Given the description of an element on the screen output the (x, y) to click on. 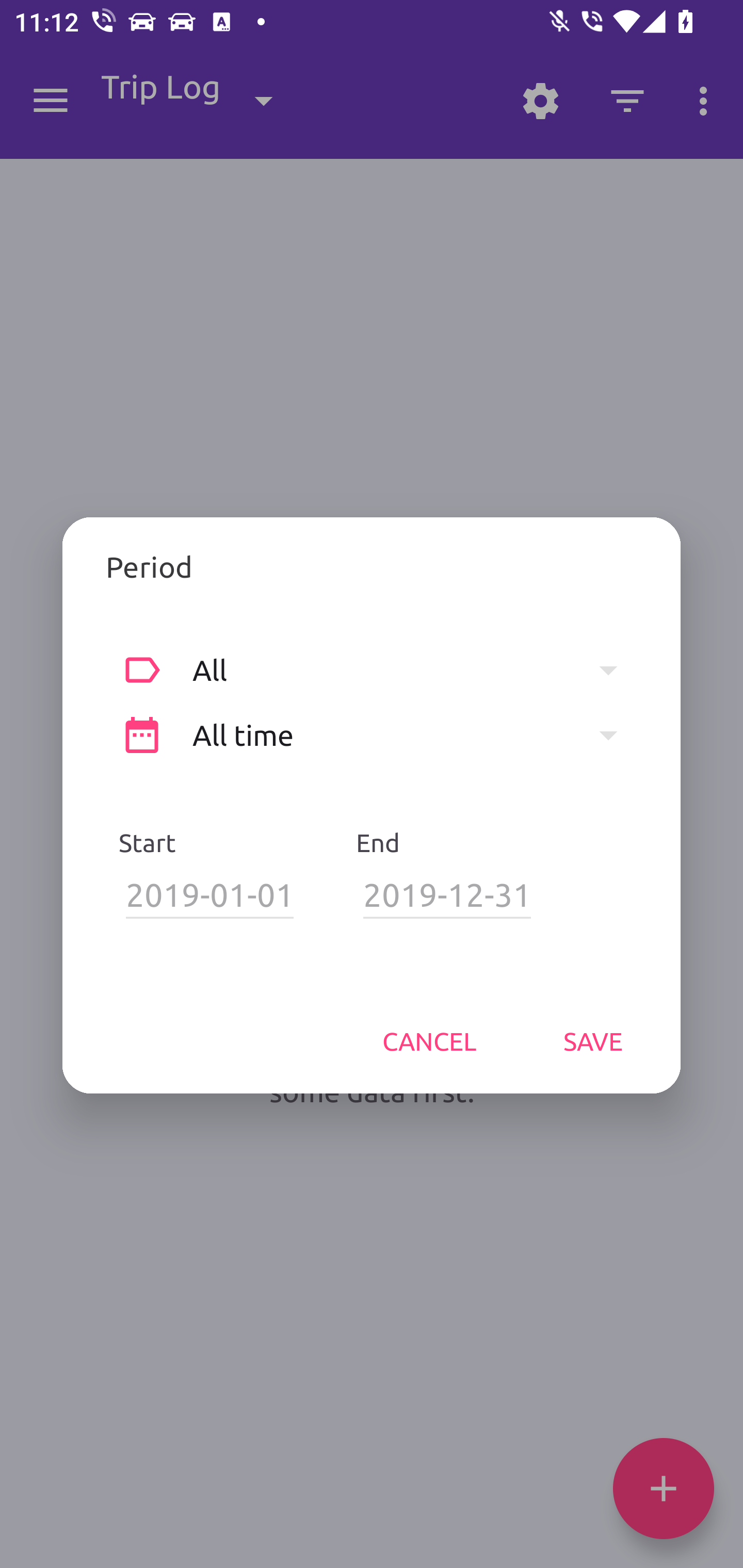
All (414, 669)
All time (414, 735)
2019-01-01 (209, 894)
2019-12-31 (446, 894)
CANCEL (429, 1040)
SAVE (593, 1040)
